Given the description of an element on the screen output the (x, y) to click on. 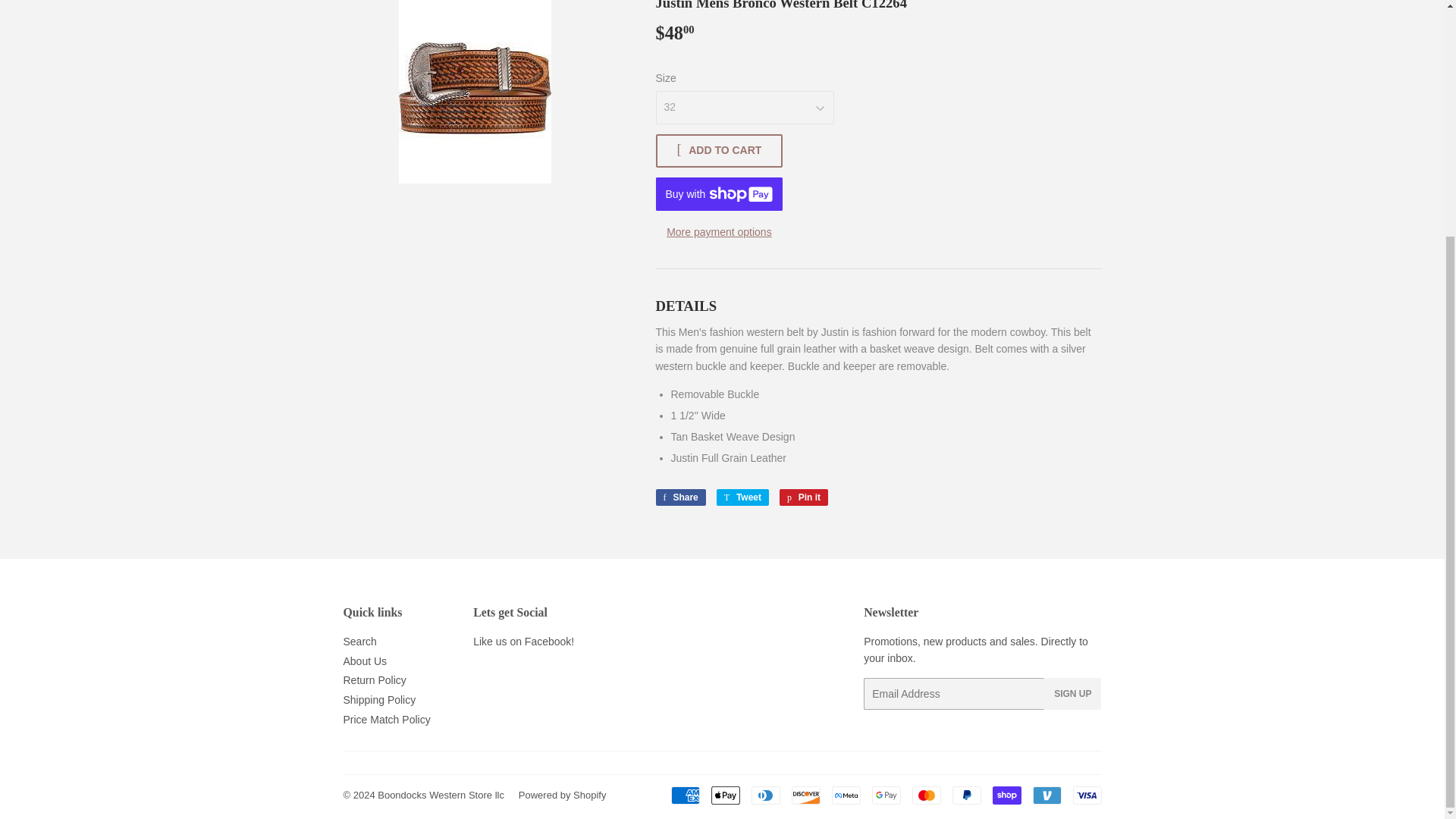
Discover (806, 795)
Venmo (1046, 795)
PayPal (966, 795)
Apple Pay (725, 795)
Meta Pay (845, 795)
American Express (683, 795)
Diners Club (764, 795)
Shop Pay (1005, 795)
Mastercard (925, 795)
Pin on Pinterest (803, 497)
Visa (1085, 795)
Share on Facebook (679, 497)
Google Pay (886, 795)
Tweet on Twitter (742, 497)
